Given the description of an element on the screen output the (x, y) to click on. 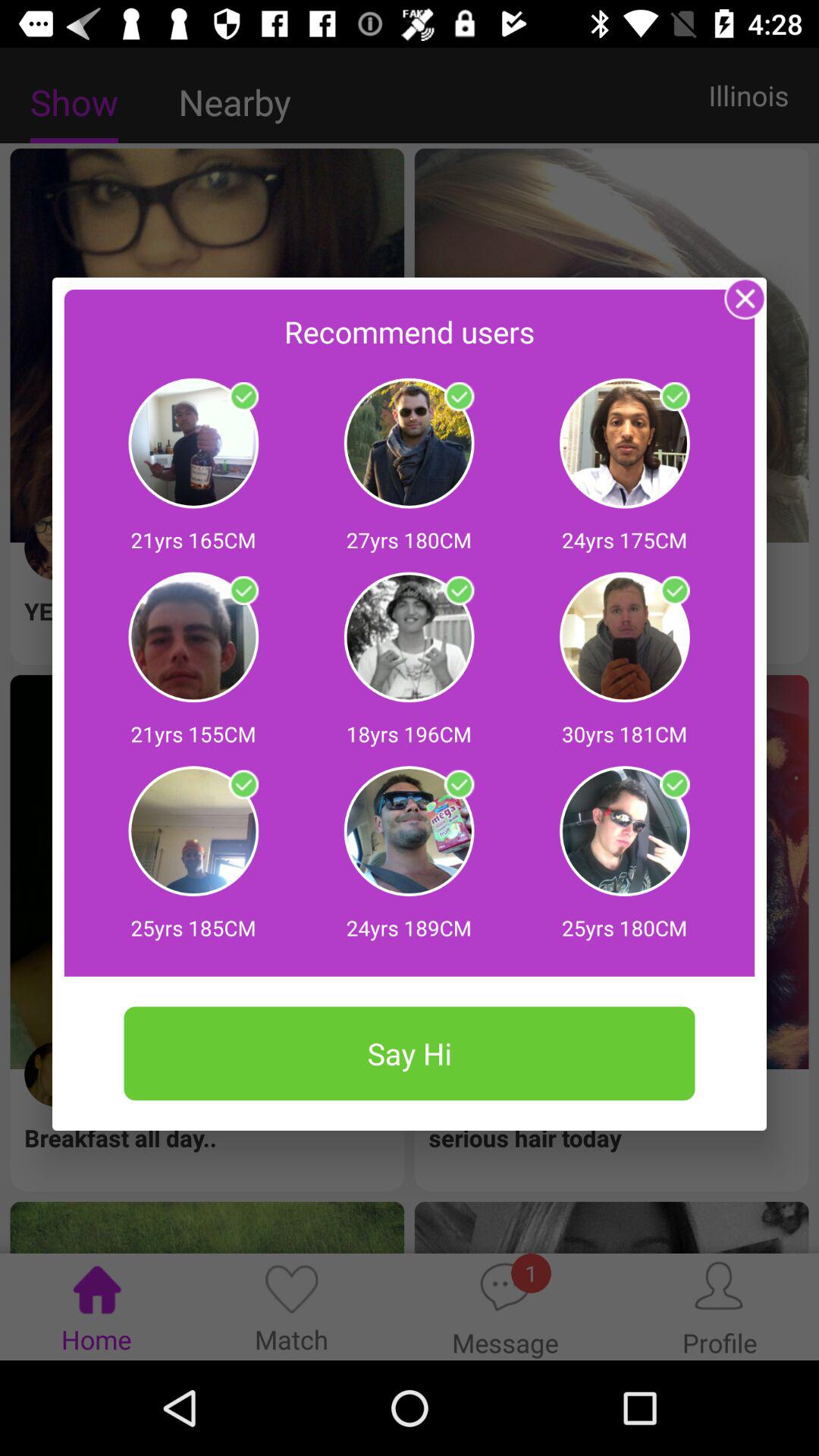
choose option (243, 396)
